Given the description of an element on the screen output the (x, y) to click on. 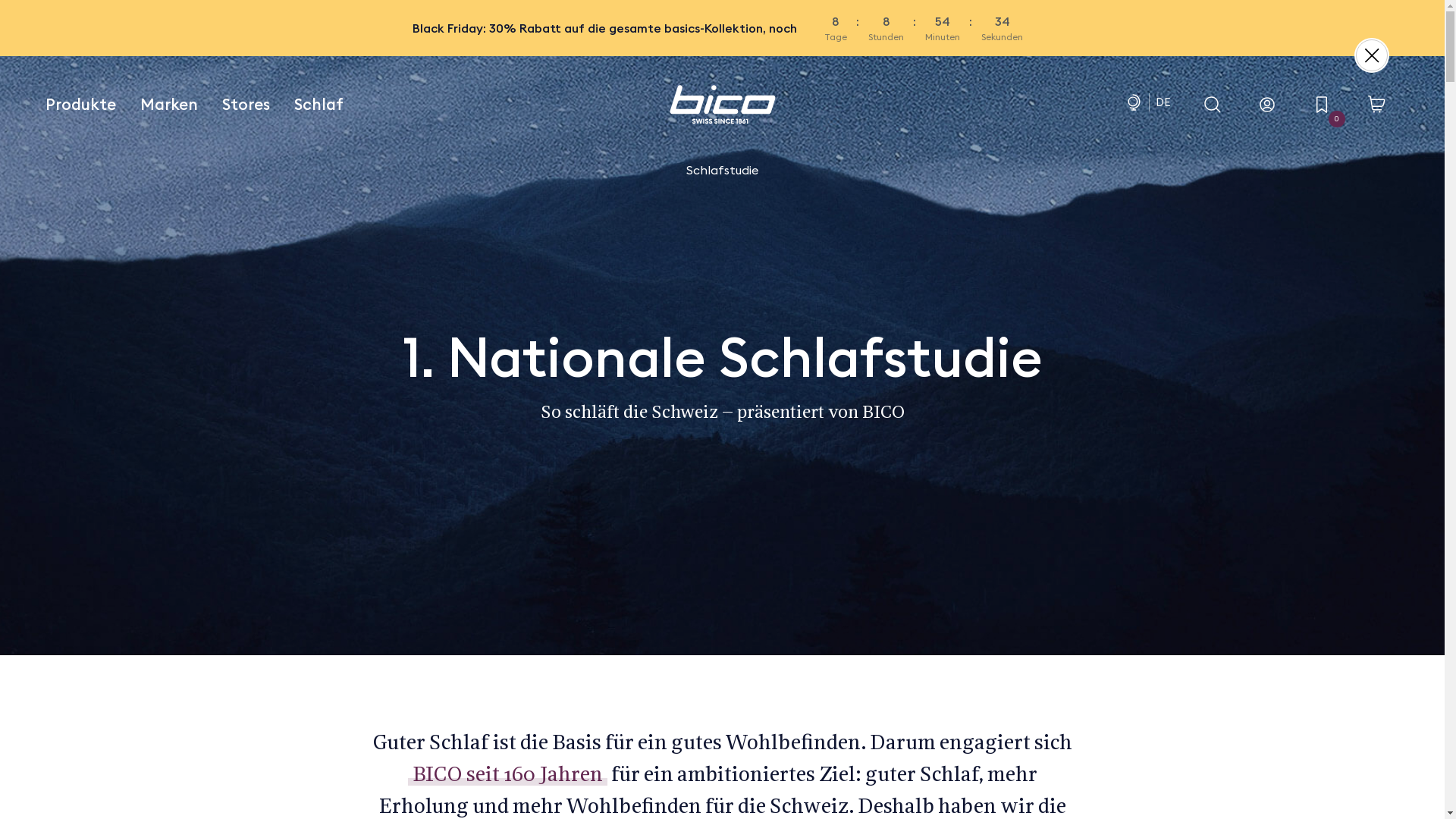
0 Element type: text (1321, 104)
Produkte Element type: text (86, 104)
Schlaf Element type: text (318, 104)
Stores Element type: text (246, 104)
DE Element type: text (1162, 102)
BICO seit 160 Jahren Element type: text (507, 775)
Marken Element type: text (169, 104)
